Given the description of an element on the screen output the (x, y) to click on. 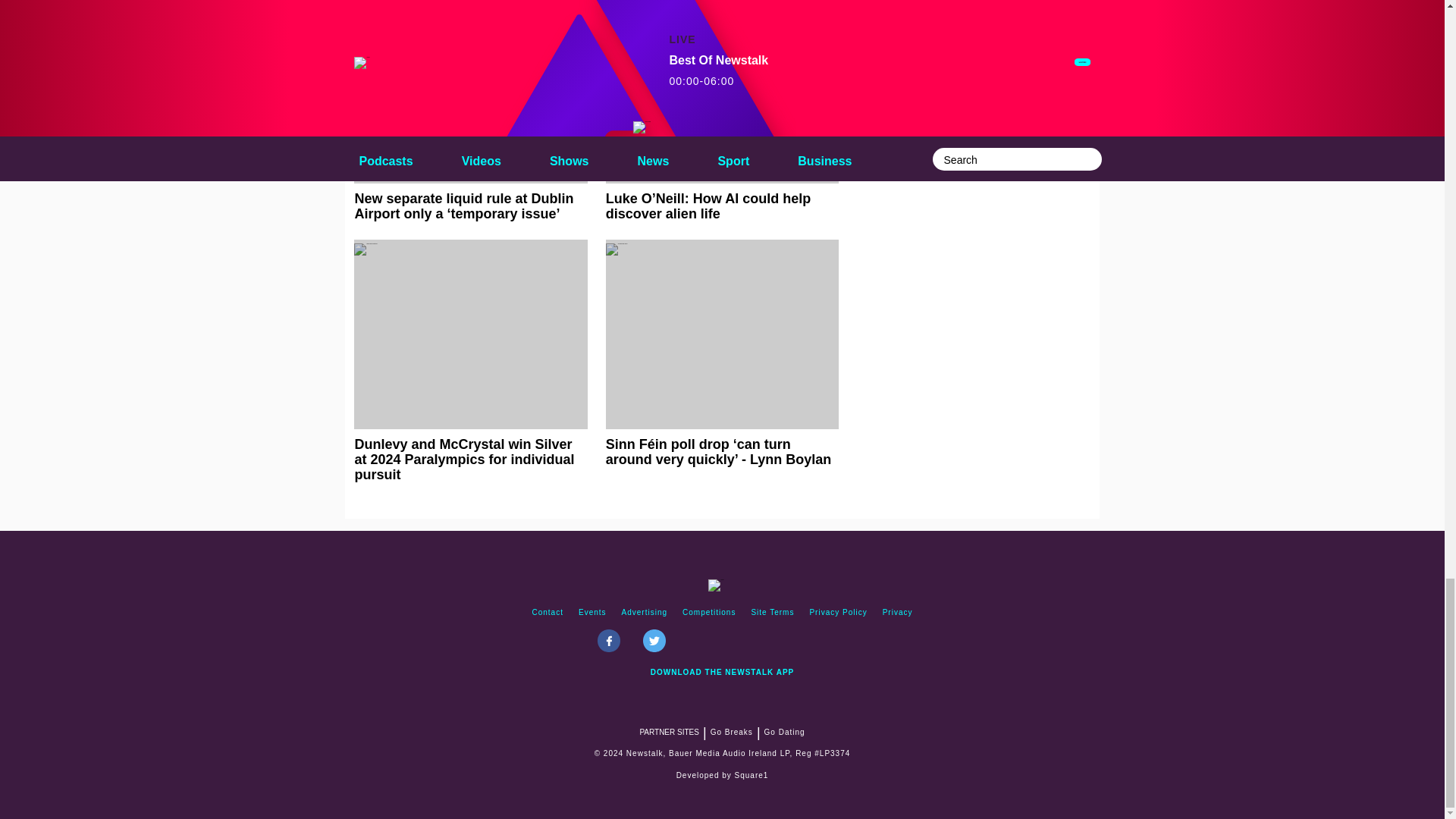
advertising (644, 612)
events (592, 612)
competitions (708, 612)
Privacy (897, 612)
Privacy Policy (838, 612)
contact (547, 612)
site terms (772, 612)
